Given the description of an element on the screen output the (x, y) to click on. 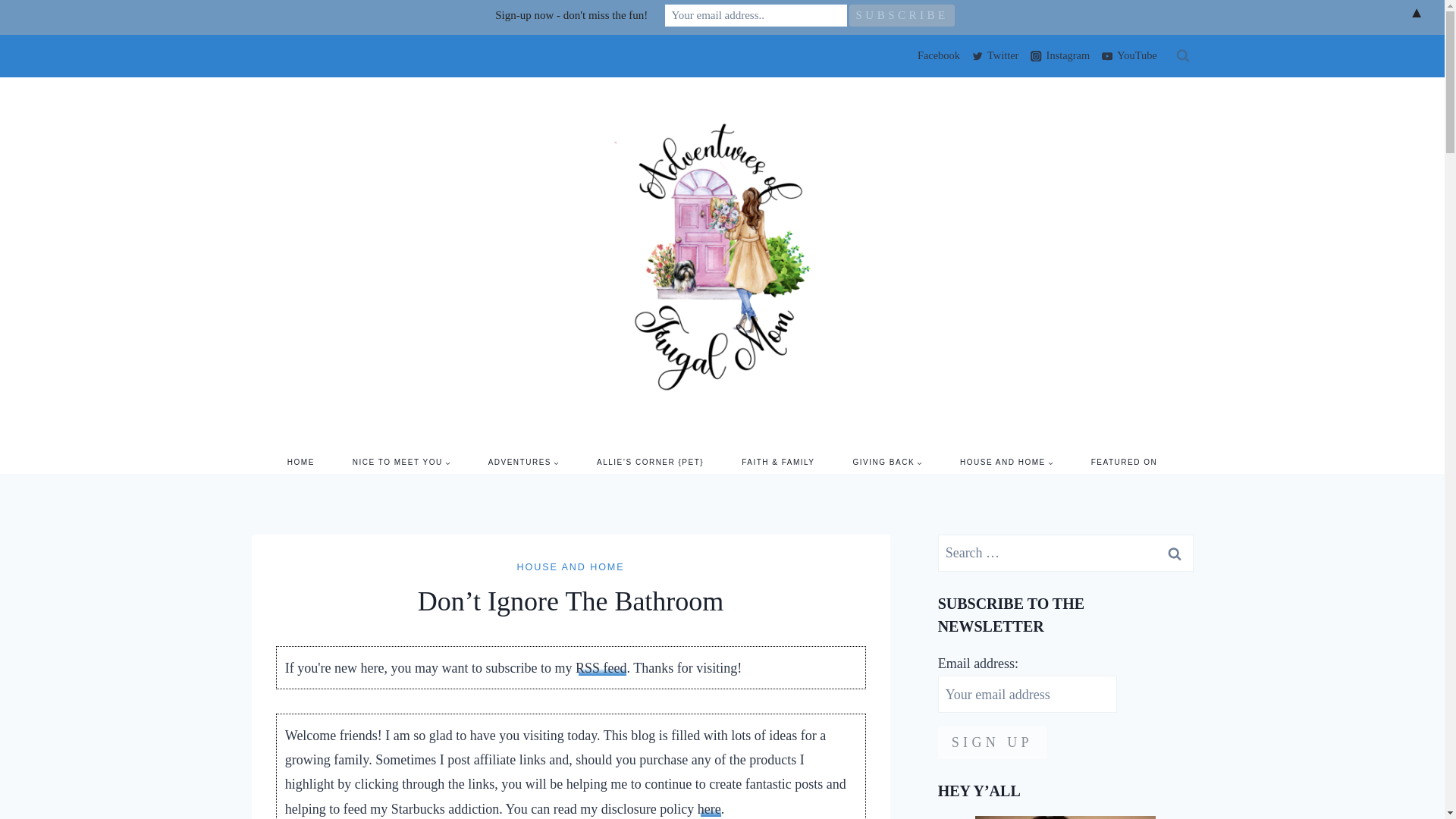
NICE TO MEET YOU (400, 462)
Subscribe (901, 15)
FEATURED ON (1123, 462)
Sign up (991, 742)
GIVING BACK (888, 462)
HOUSE AND HOME (1005, 462)
Search (1174, 552)
Twitter (995, 56)
Facebook (935, 56)
Search (1174, 552)
